Given the description of an element on the screen output the (x, y) to click on. 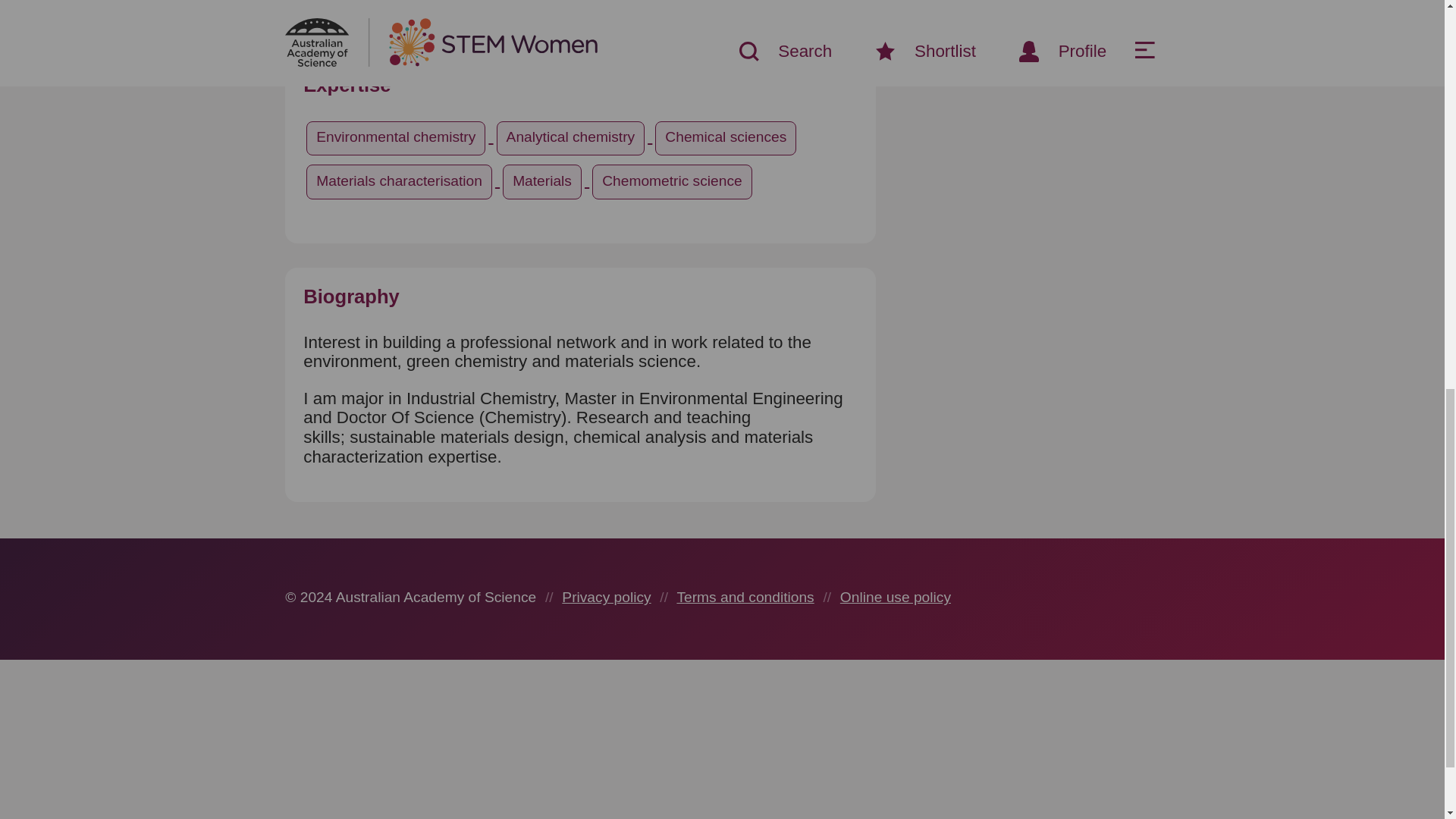
Analytical chemistry (572, 135)
Terms and conditions (745, 596)
Materials characterisation (400, 179)
Materials (544, 179)
Chemical sciences (725, 135)
Environmental chemistry (397, 135)
Online use policy (895, 596)
Privacy policy (606, 596)
Chemometric science (671, 179)
